Given the description of an element on the screen output the (x, y) to click on. 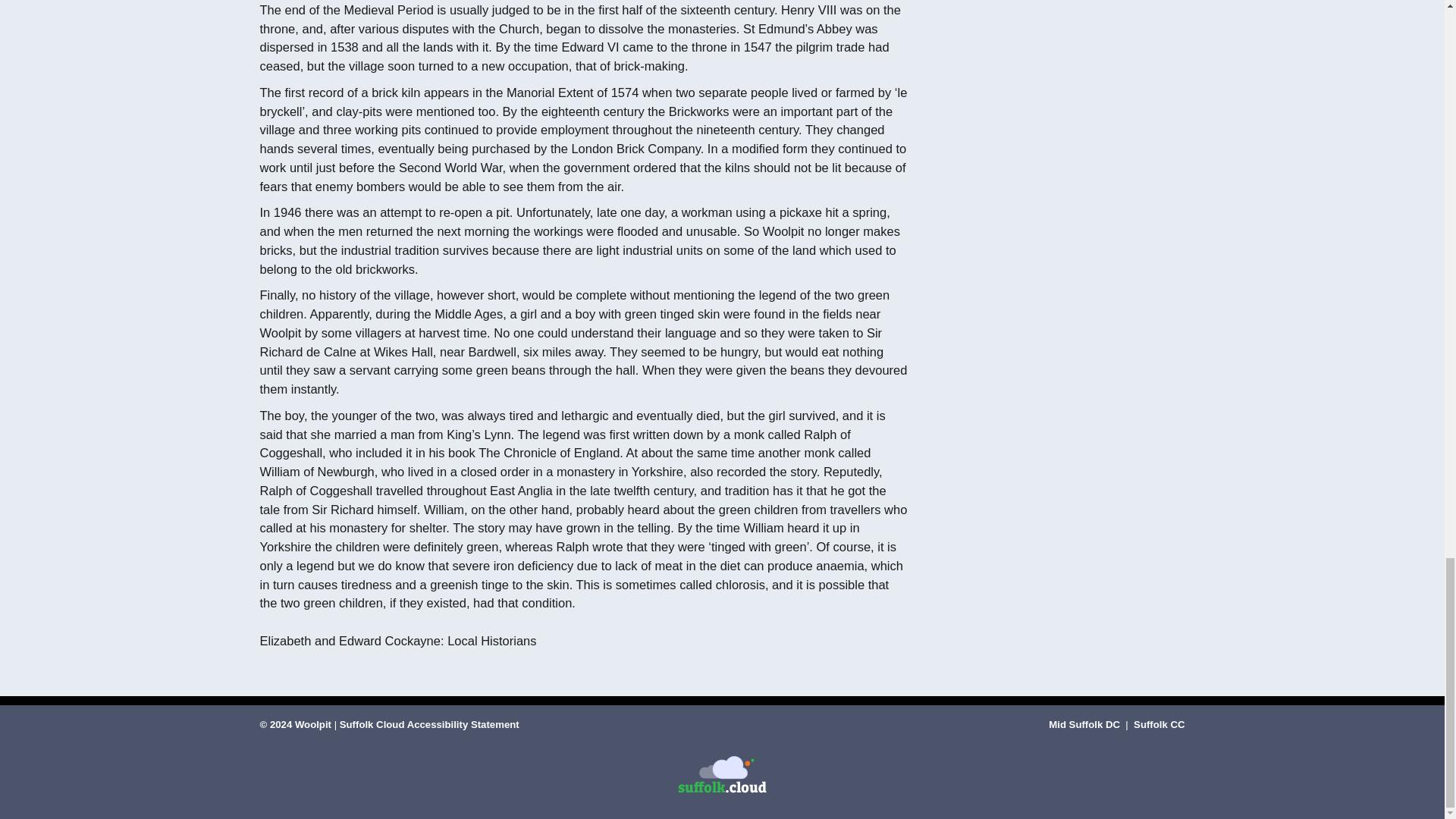
Suffolk CC (1159, 724)
Mid Suffolk DC (1085, 724)
Suffolk Cloud Accessibility Statement (429, 724)
